Given the description of an element on the screen output the (x, y) to click on. 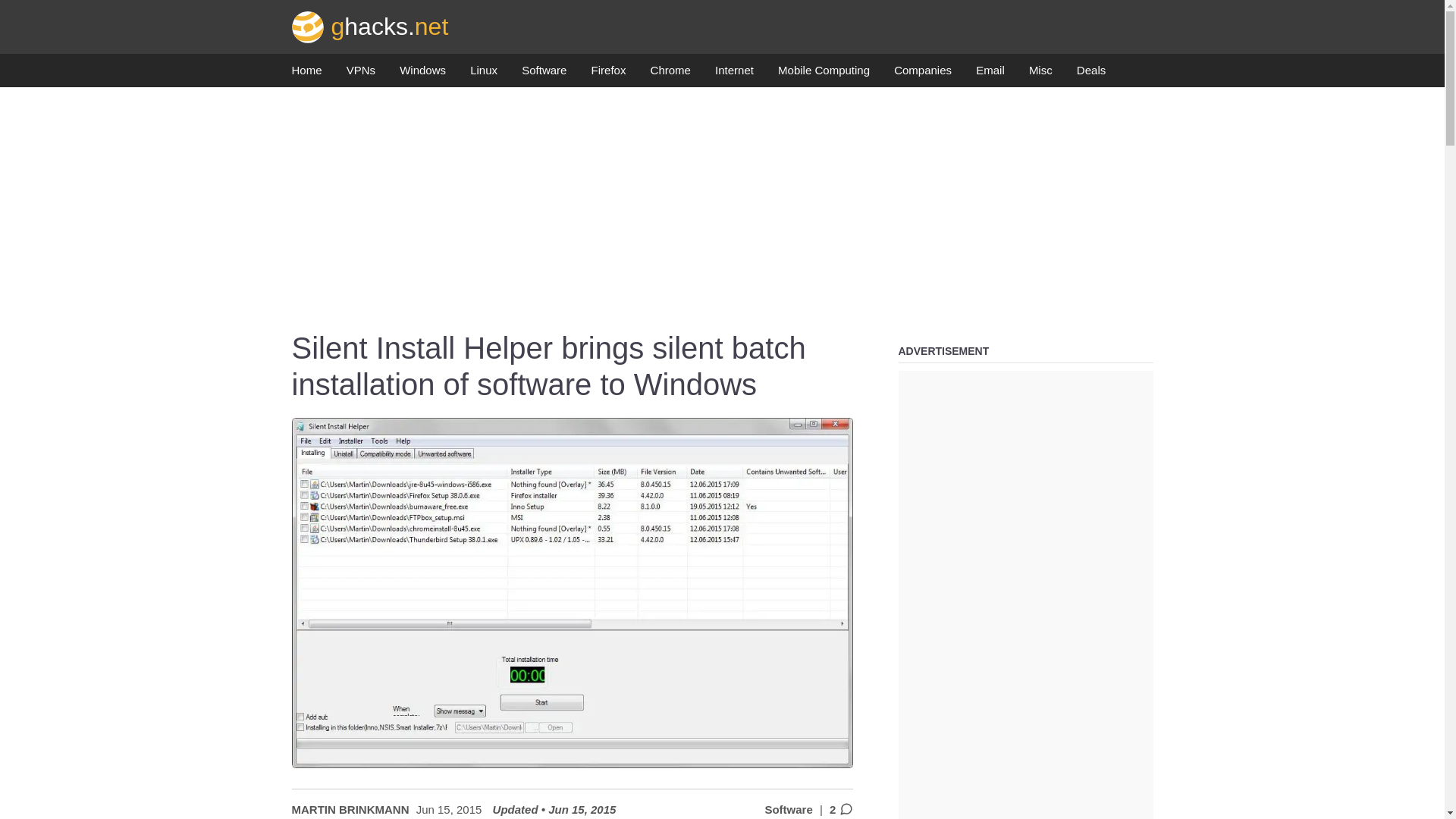
Internet (734, 73)
Firefox (608, 73)
Linux (483, 73)
Misc (1040, 73)
Windows (421, 73)
Software (543, 73)
Deals (1091, 73)
ghacks.net (369, 26)
Companies (922, 73)
VPNs (360, 73)
